Given the description of an element on the screen output the (x, y) to click on. 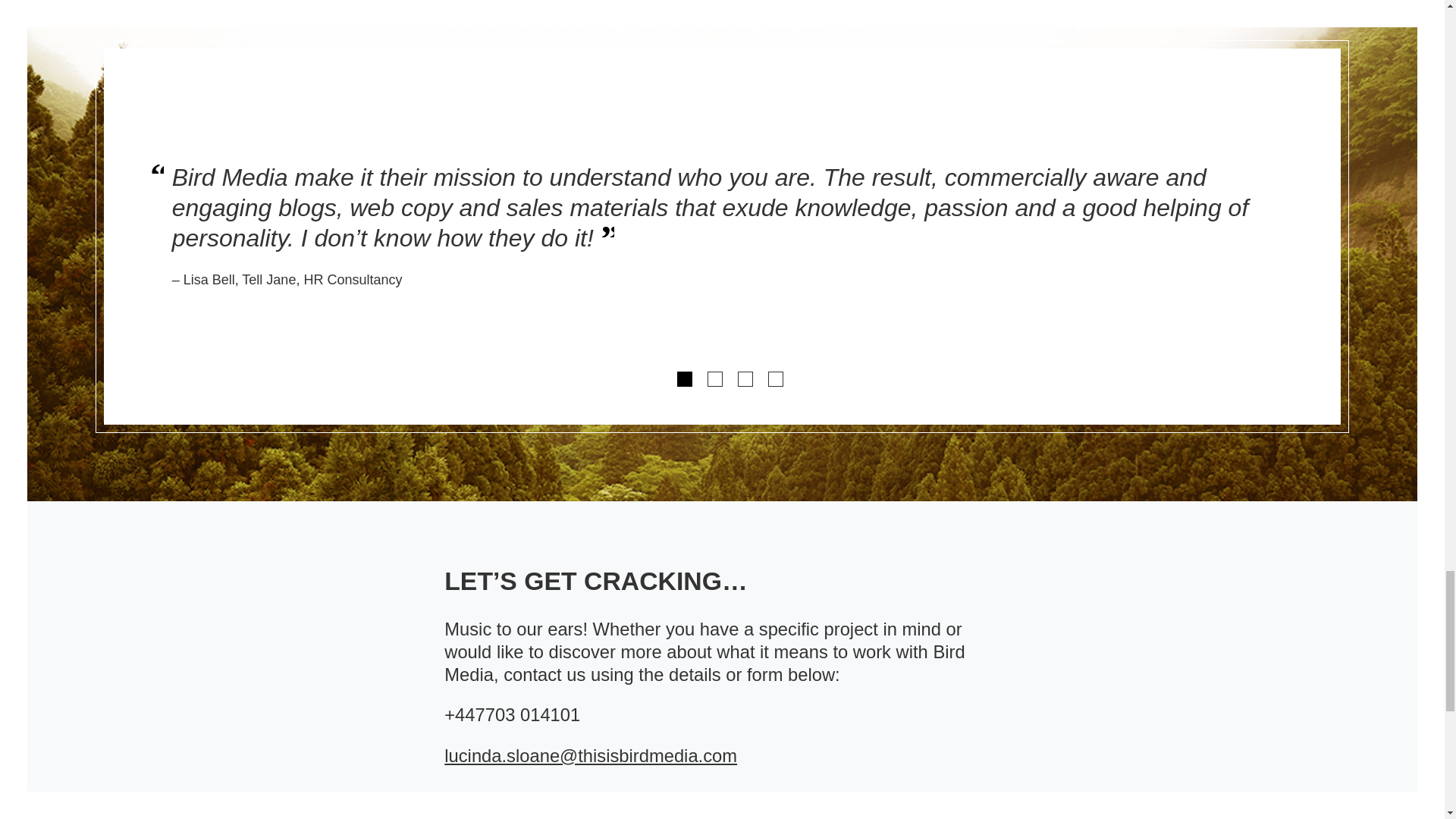
4 (775, 378)
3 (744, 378)
1 (684, 378)
2 (714, 378)
